Given the description of an element on the screen output the (x, y) to click on. 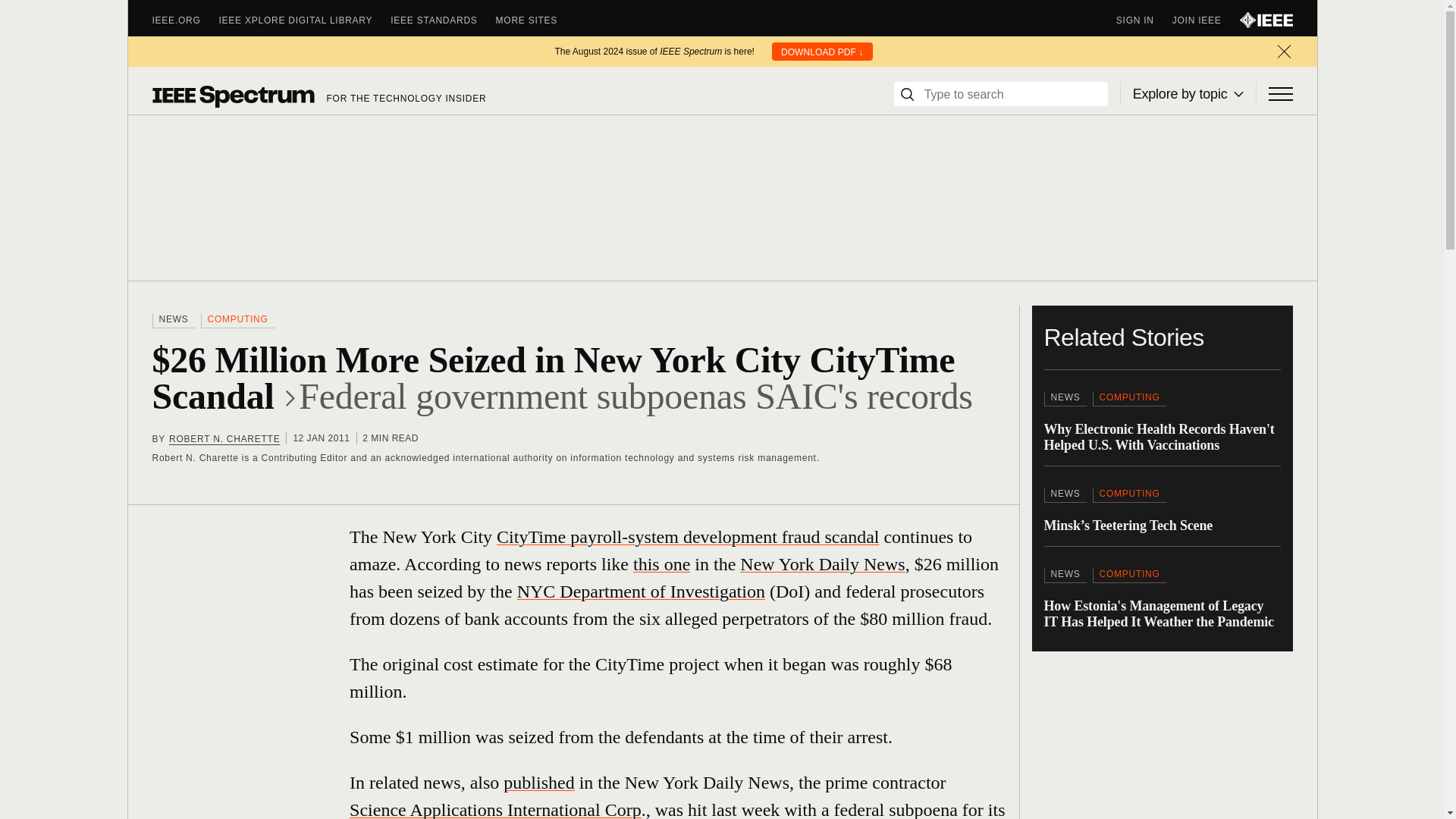
Search (907, 93)
JOIN IEEE (1206, 20)
IEEE.ORG (184, 20)
SIGN IN (1144, 20)
Close bar (1283, 51)
IEEE STANDARDS (442, 20)
MORE SITES (536, 20)
IEEE XPLORE DIGITAL LIBRARY (305, 20)
Spectrum Logo (232, 95)
